Given the description of an element on the screen output the (x, y) to click on. 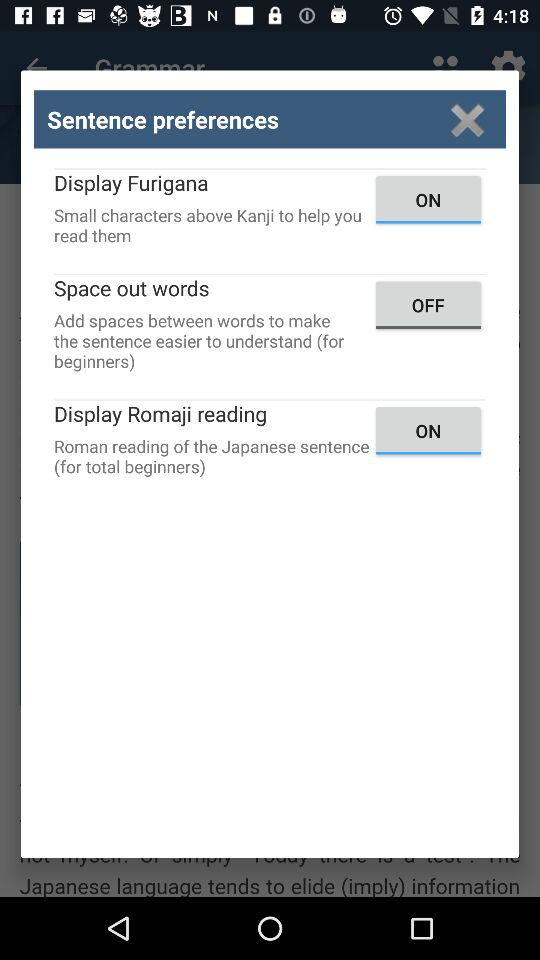
press the off icon (427, 304)
